Given the description of an element on the screen output the (x, y) to click on. 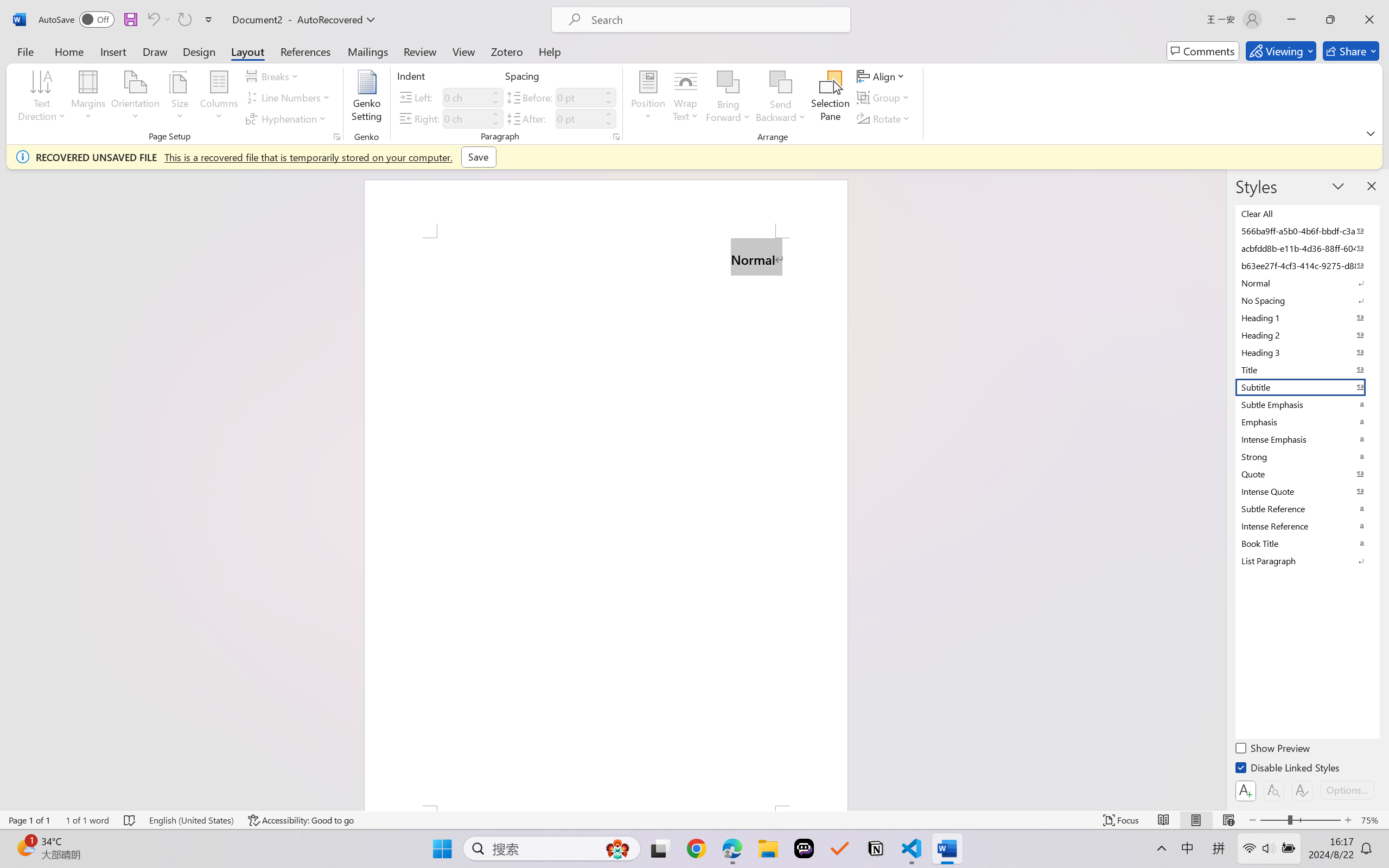
Line Numbers (289, 97)
Position (647, 97)
Indent Right (465, 118)
Class: NetUIScrollBar (1219, 489)
Subtle Emphasis (1306, 404)
Columns (219, 97)
Book Title (1306, 543)
b63ee27f-4cf3-414c-9275-d88e3f90795e (1306, 265)
Heading 2 (1306, 334)
Bring Forward (728, 97)
